Given the description of an element on the screen output the (x, y) to click on. 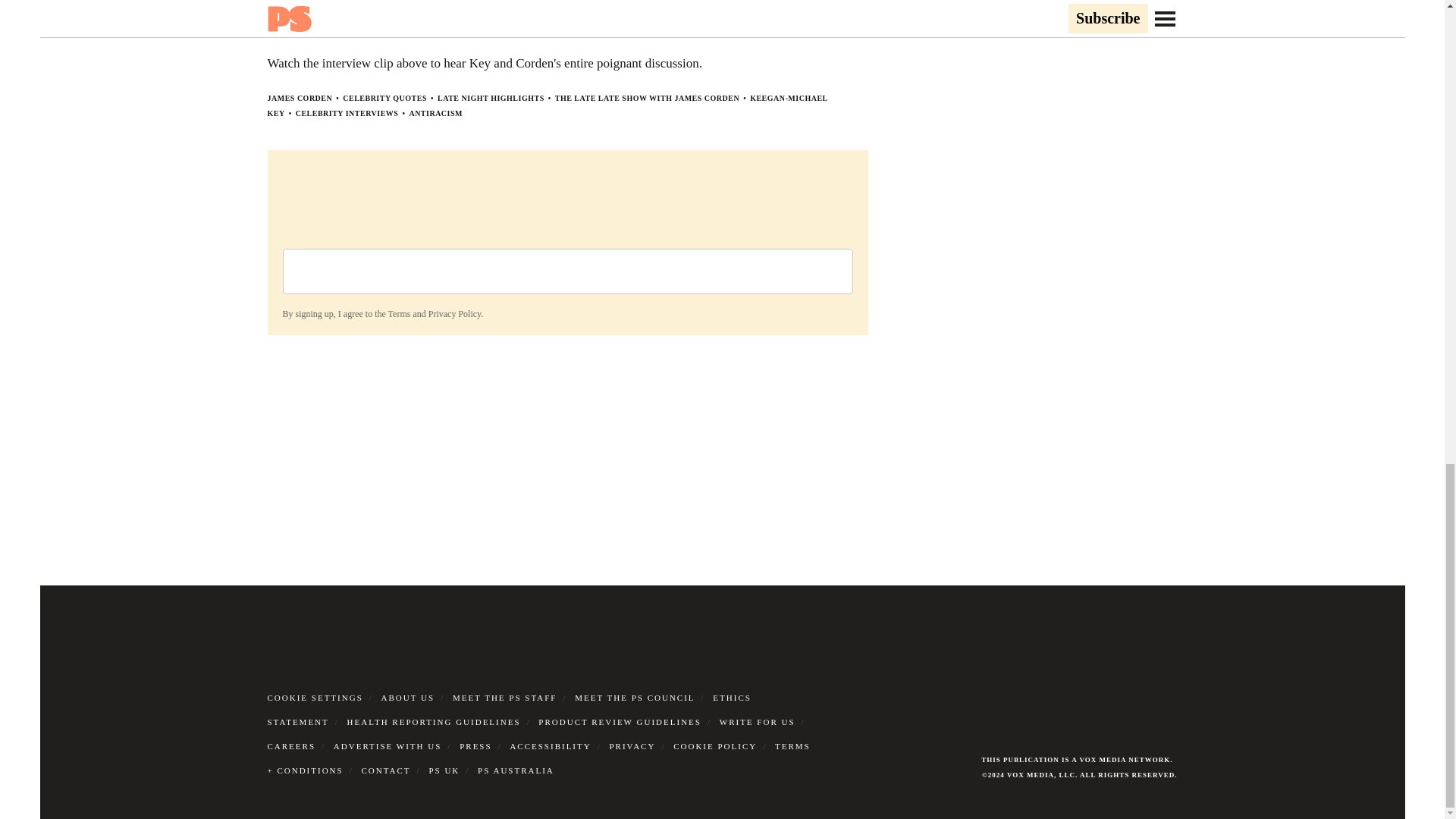
HEALTH REPORTING GUIDELINES (434, 720)
Terms (399, 313)
MEET THE PS COUNCIL (634, 696)
CELEBRITY INTERVIEWS (346, 112)
CAREERS (290, 745)
ABOUT US (408, 696)
PRIVACY (633, 745)
ADVERTISE WITH US (387, 745)
PRODUCT REVIEW GUIDELINES (619, 720)
LATE NIGHT HIGHLIGHTS (491, 97)
